Given the description of an element on the screen output the (x, y) to click on. 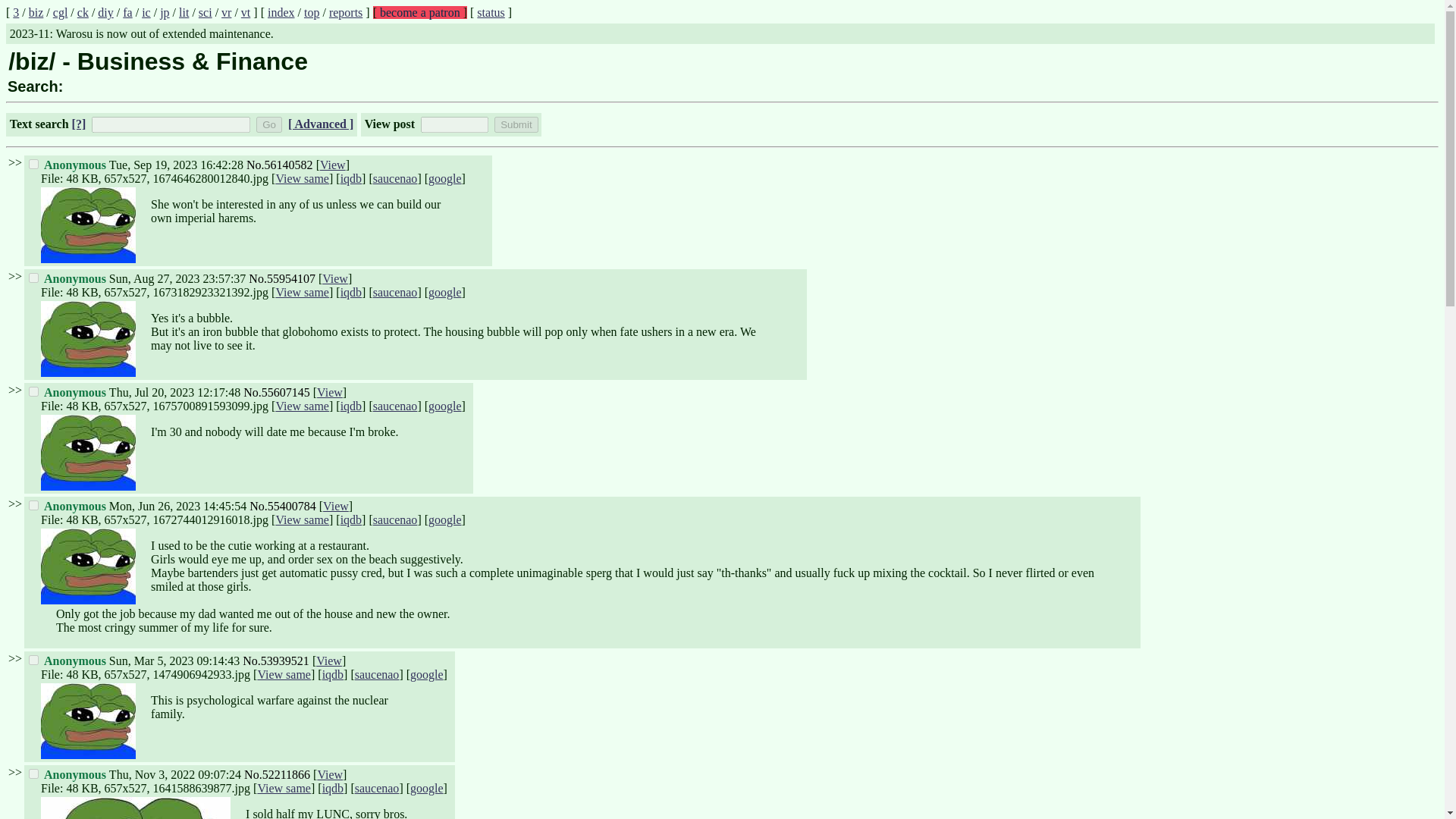
Submit (516, 124)
google (444, 178)
View (333, 164)
sci (205, 11)
Submit (516, 124)
55400784,0 (34, 505)
No.56140582 (279, 164)
View same (302, 291)
biz (36, 11)
cgl (60, 11)
Go (269, 124)
No.55954107 (281, 278)
56140582,0 (34, 163)
55954107,0 (34, 277)
iqdb (350, 178)
